Given the description of an element on the screen output the (x, y) to click on. 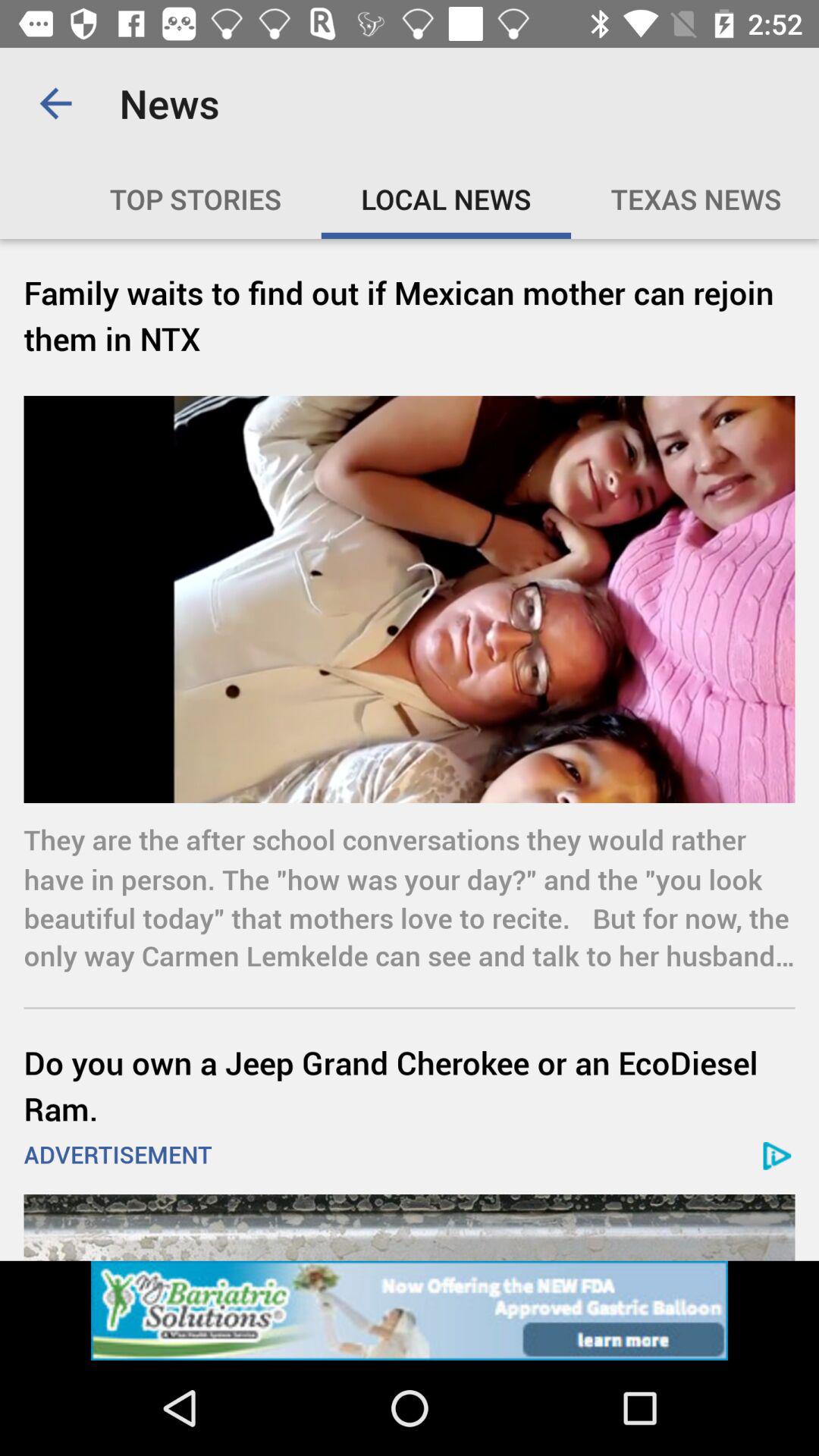
go to website advertisement (409, 1310)
